Given the description of an element on the screen output the (x, y) to click on. 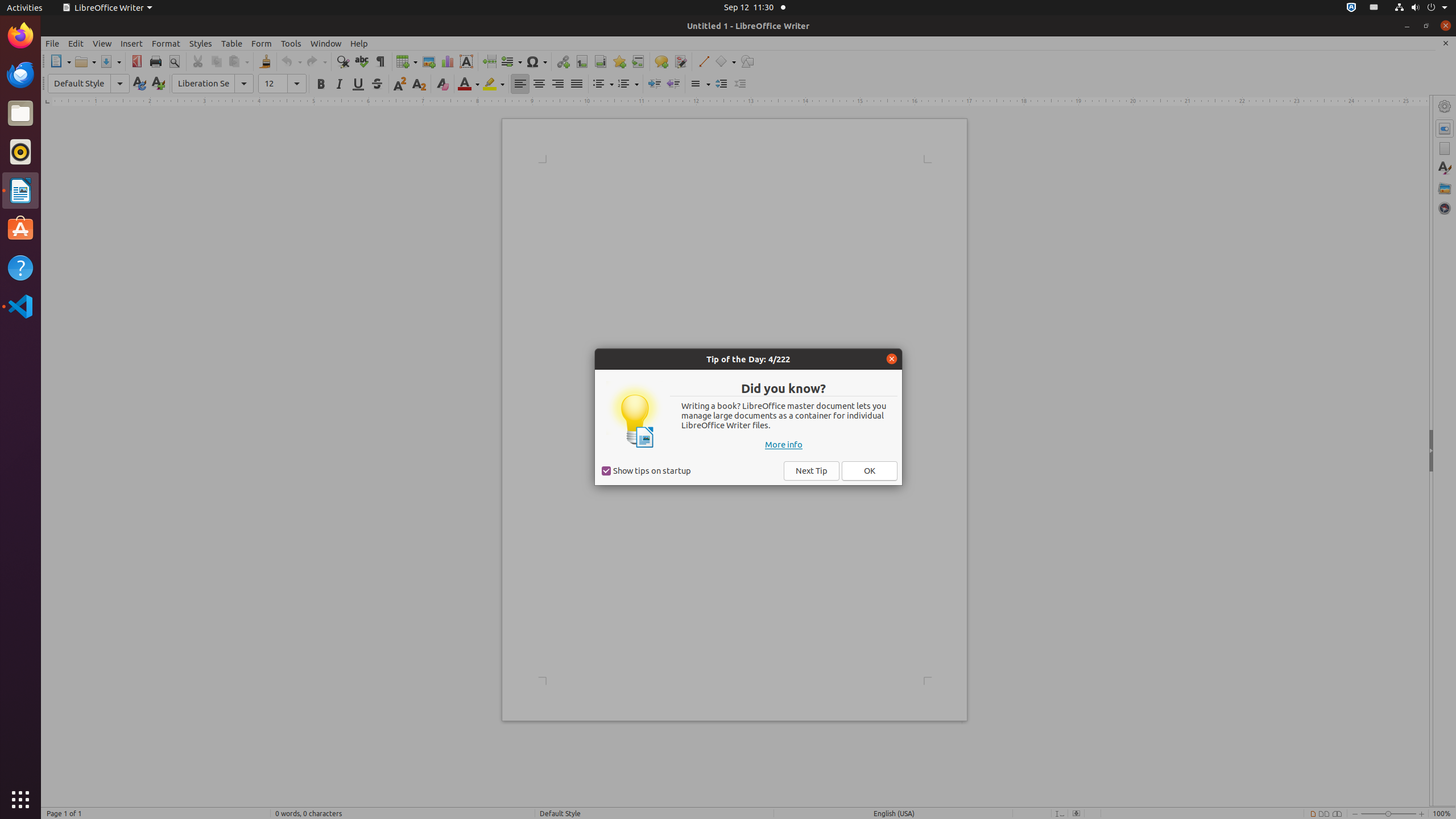
Firefox Web Browser Element type: push-button (20, 35)
